Given the description of an element on the screen output the (x, y) to click on. 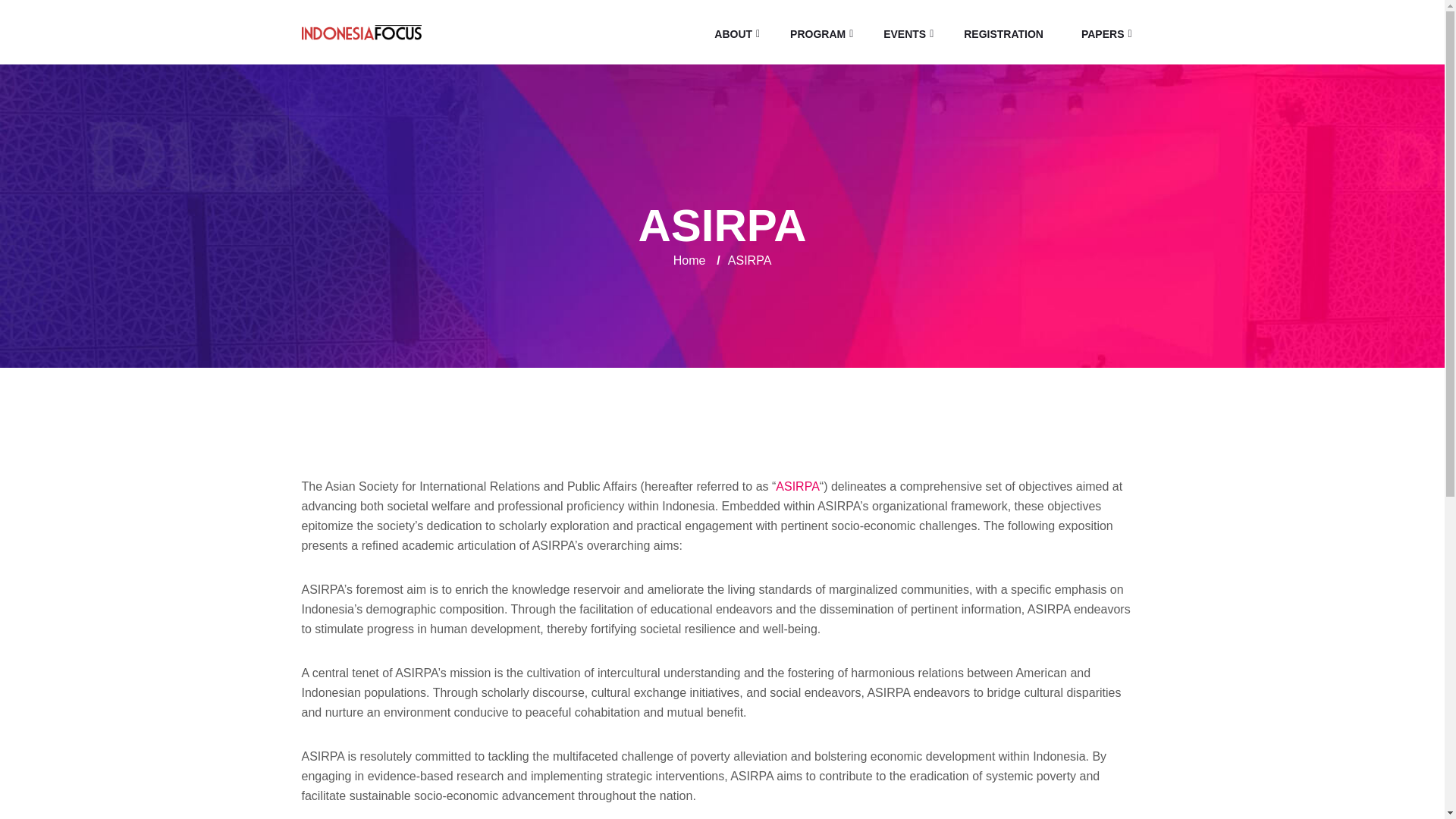
PROGRAM (817, 34)
REGISTRATION (1002, 34)
ASIRPA (797, 486)
Home (689, 259)
